Given the description of an element on the screen output the (x, y) to click on. 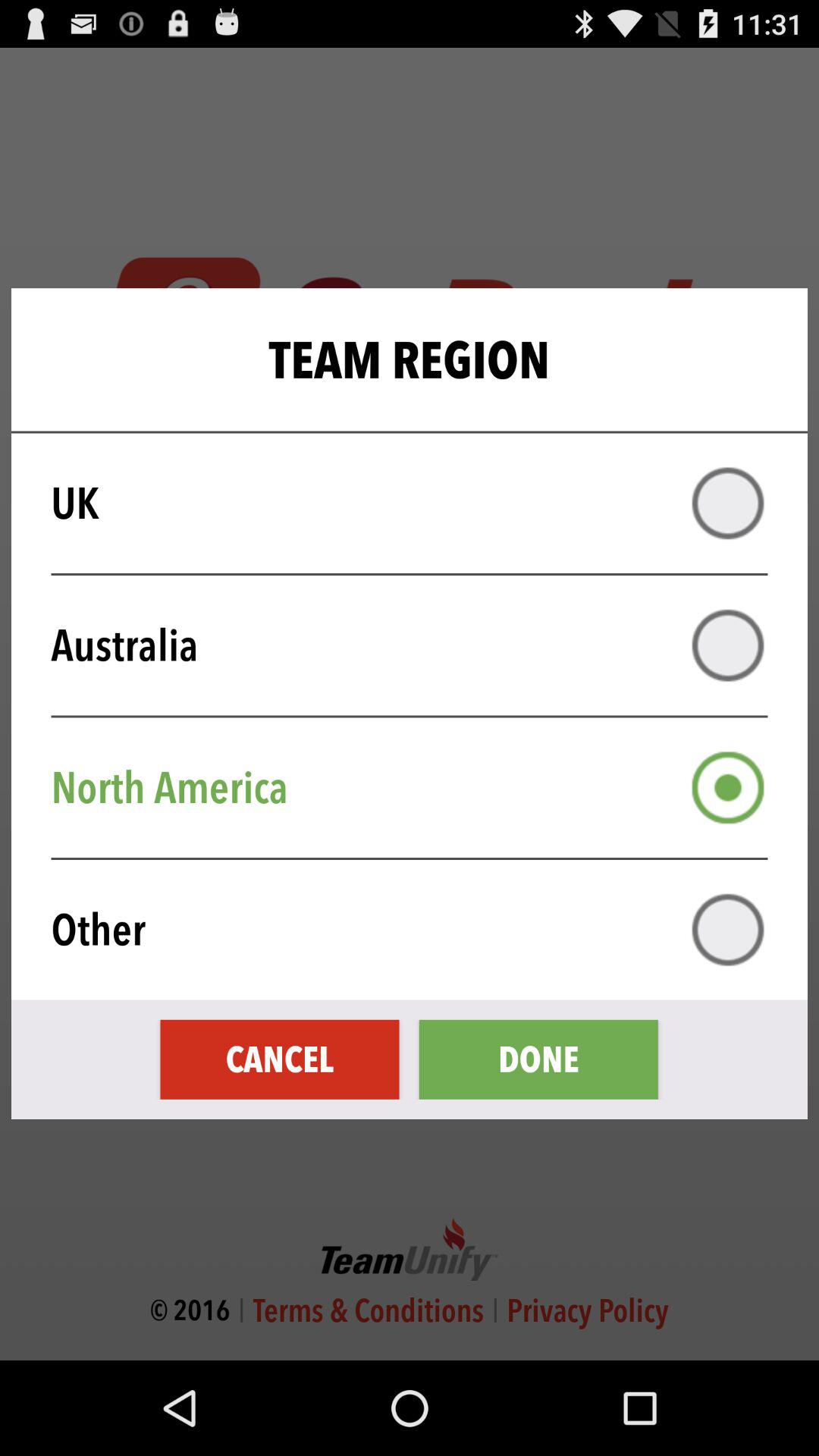
select uk team region (727, 503)
